Given the description of an element on the screen output the (x, y) to click on. 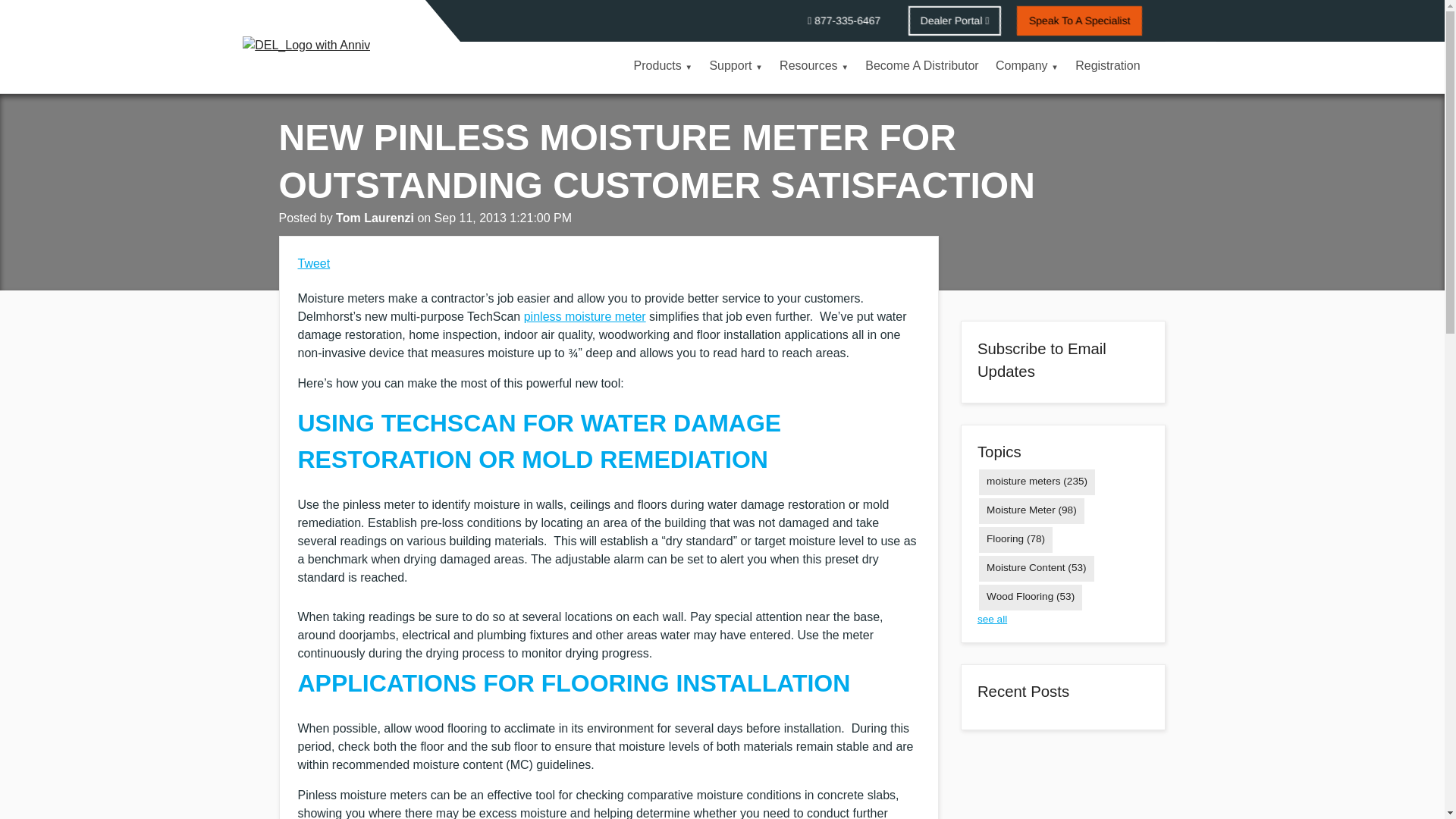
Registration (1107, 67)
Speak To A Specialist (1079, 20)
877-335-6467 (843, 20)
Dealer Portal (954, 20)
pinless moisture meter (585, 316)
Tom Laurenzi (376, 217)
Products (662, 67)
Tweet (313, 263)
Resources (814, 67)
Become A Distributor (922, 67)
